Given the description of an element on the screen output the (x, y) to click on. 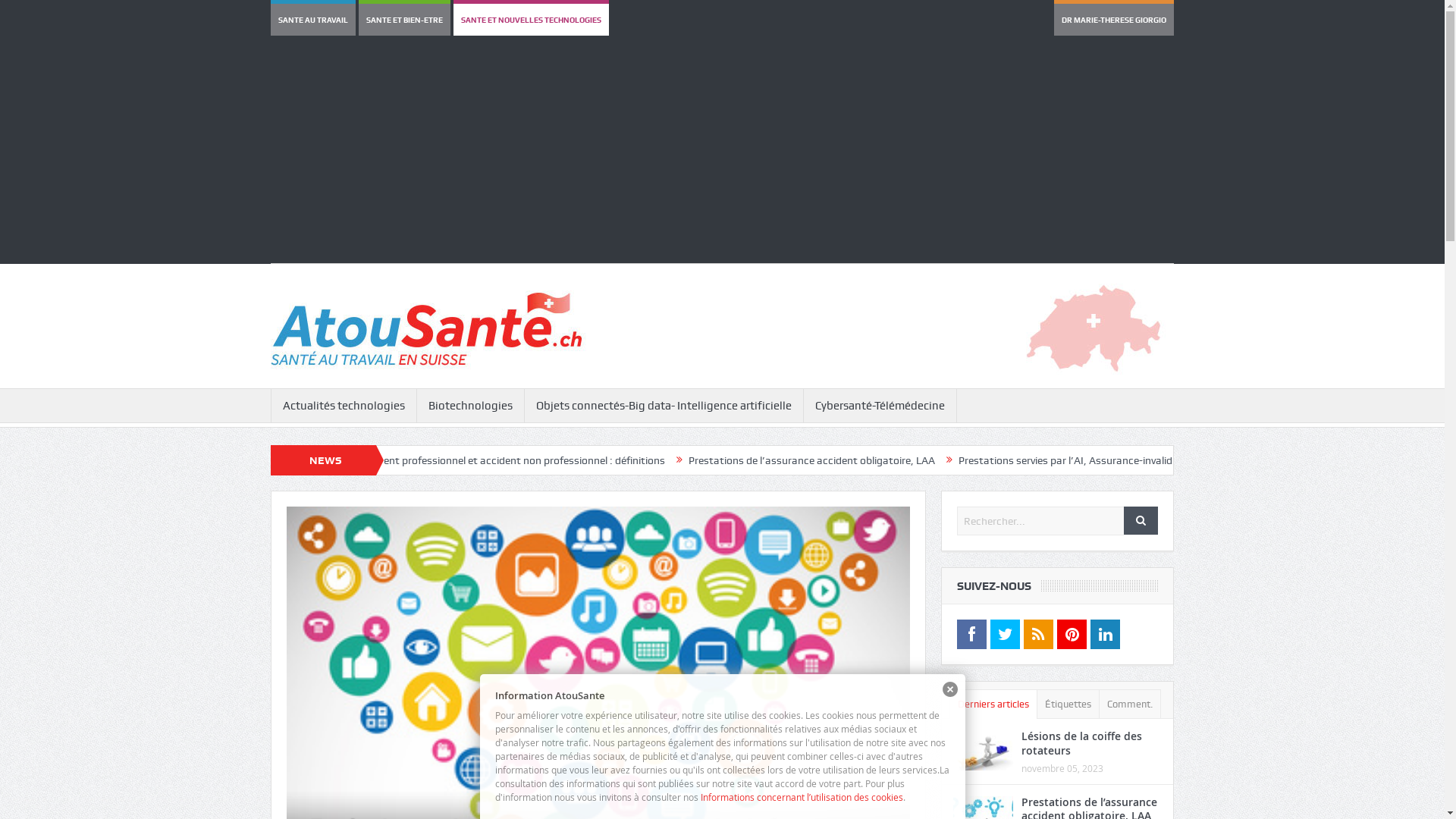
Derniers articles Element type: text (993, 704)
DR MARIE-THERESE GIORGIO Element type: text (1113, 19)
Comment. Element type: text (1129, 704)
SANTE ET BIEN-ETRE Element type: text (404, 19)
Biotechnologies Element type: text (470, 405)
Advertisement Element type: hover (721, 156)
SANTE ET NOUVELLES TECHNOLOGIES Element type: text (530, 19)
SANTE AU TRAVAIL Element type: text (312, 19)
